Given the description of an element on the screen output the (x, y) to click on. 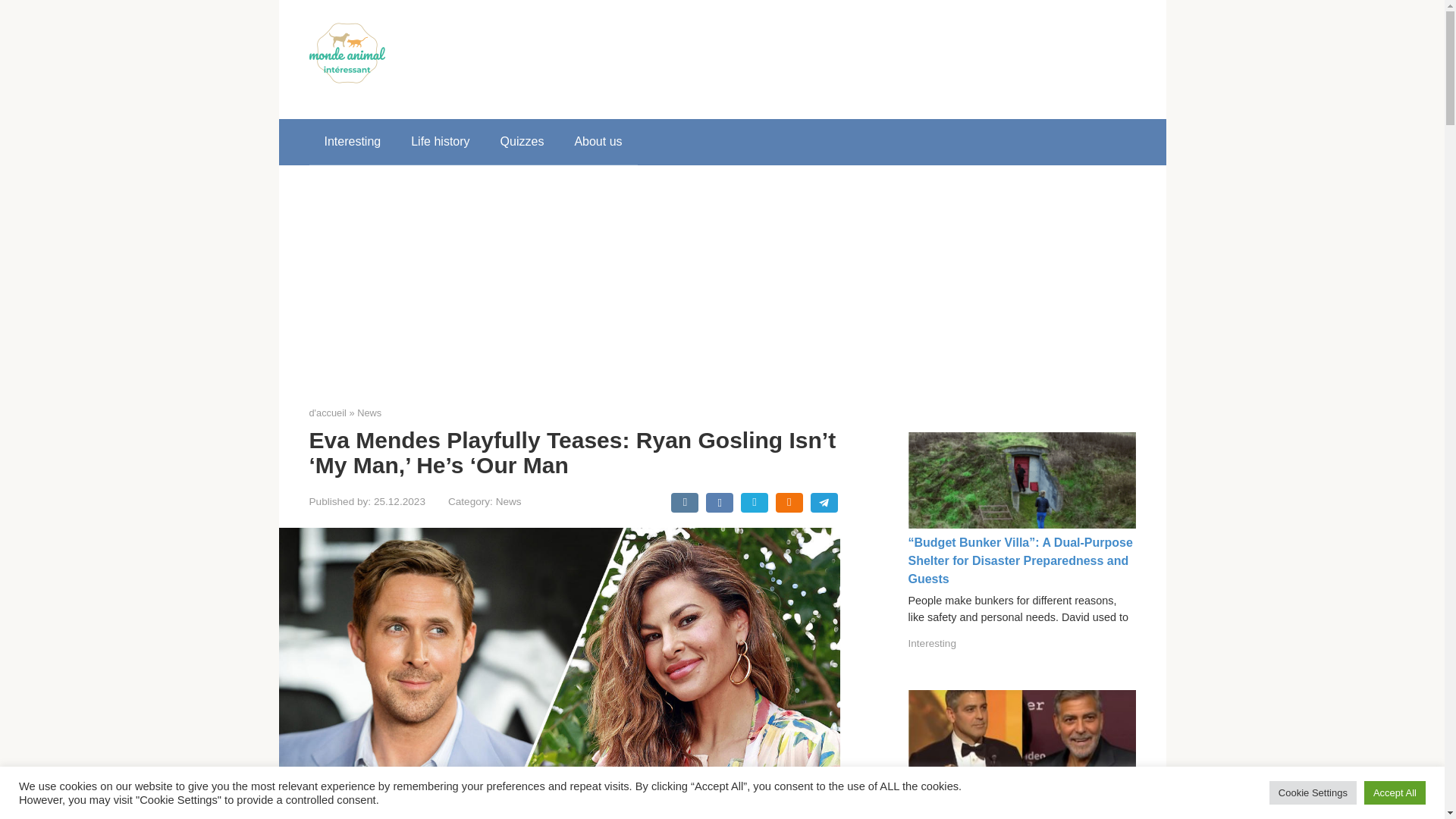
d'accueil (327, 412)
The most handsome famous men on our planet (1013, 806)
News (368, 412)
Interesting (932, 643)
About us (598, 141)
Life history (440, 141)
Quizzes (521, 141)
News (508, 501)
Interesting (352, 141)
